Given the description of an element on the screen output the (x, y) to click on. 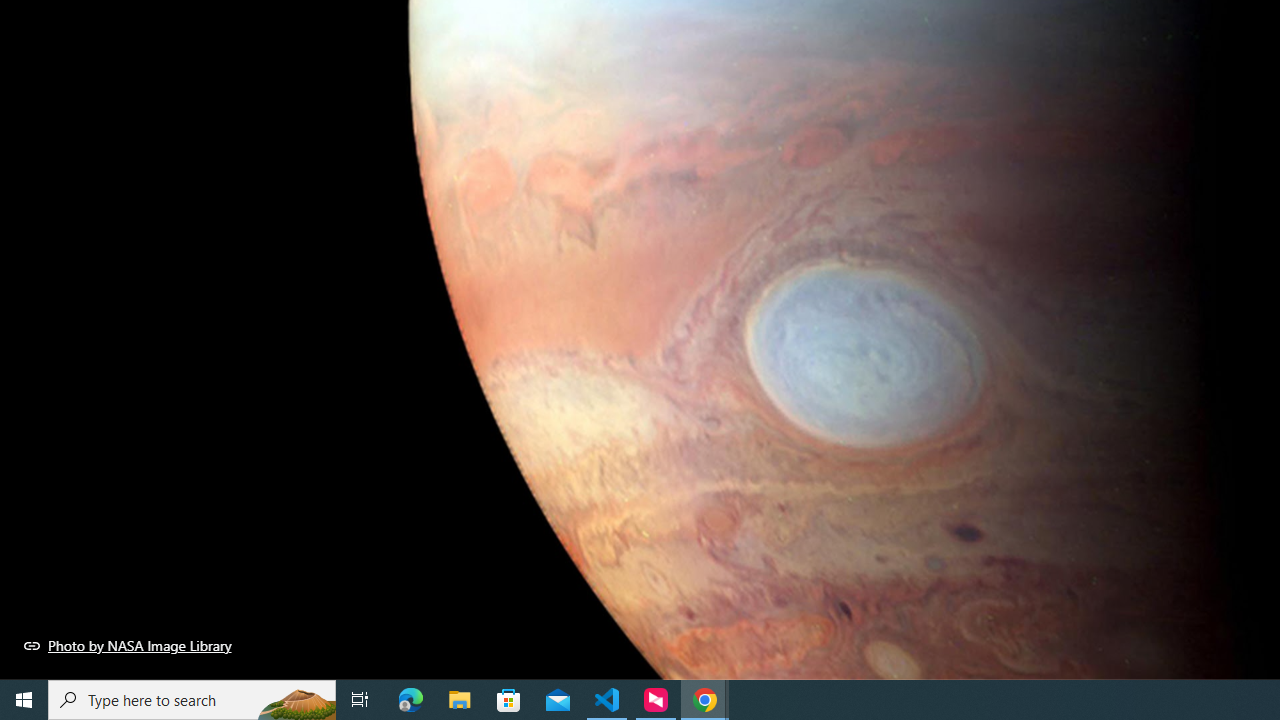
Photo by NASA Image Library (127, 645)
